Given the description of an element on the screen output the (x, y) to click on. 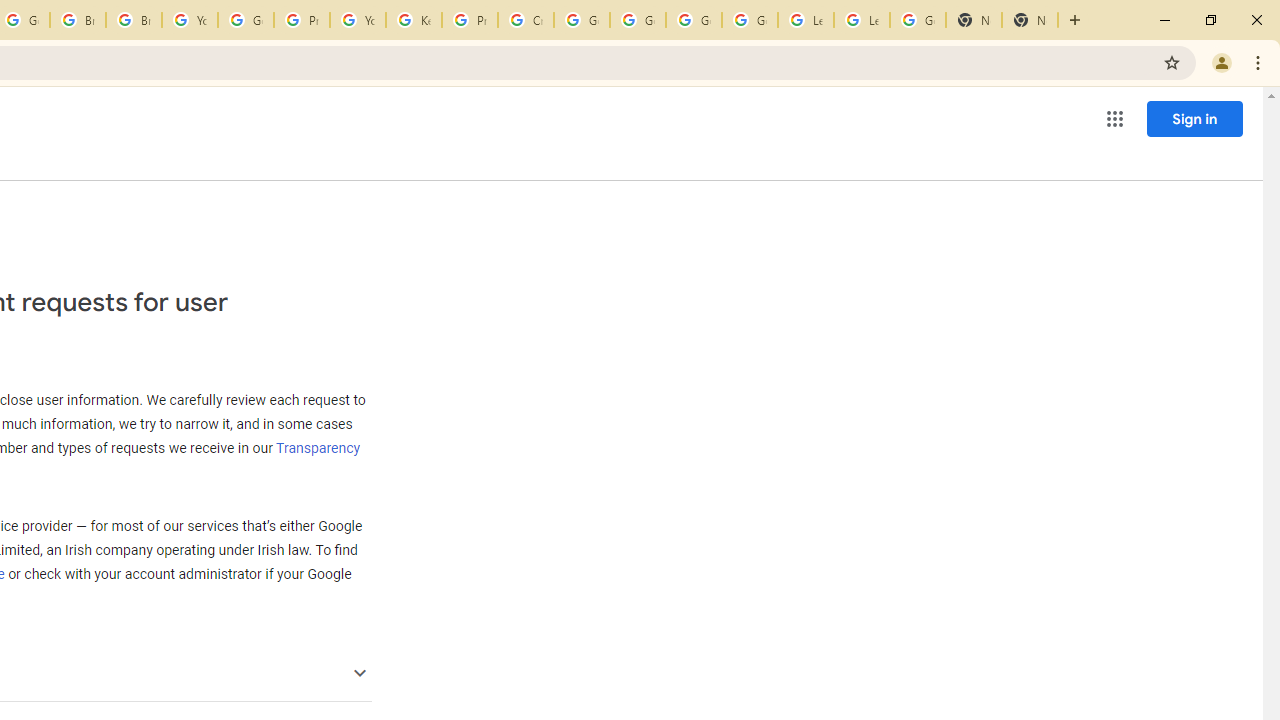
Brand Resource Center (77, 20)
Google Account (917, 20)
Google Account Help (637, 20)
Google Account Help (245, 20)
YouTube (189, 20)
